Given the description of an element on the screen output the (x, y) to click on. 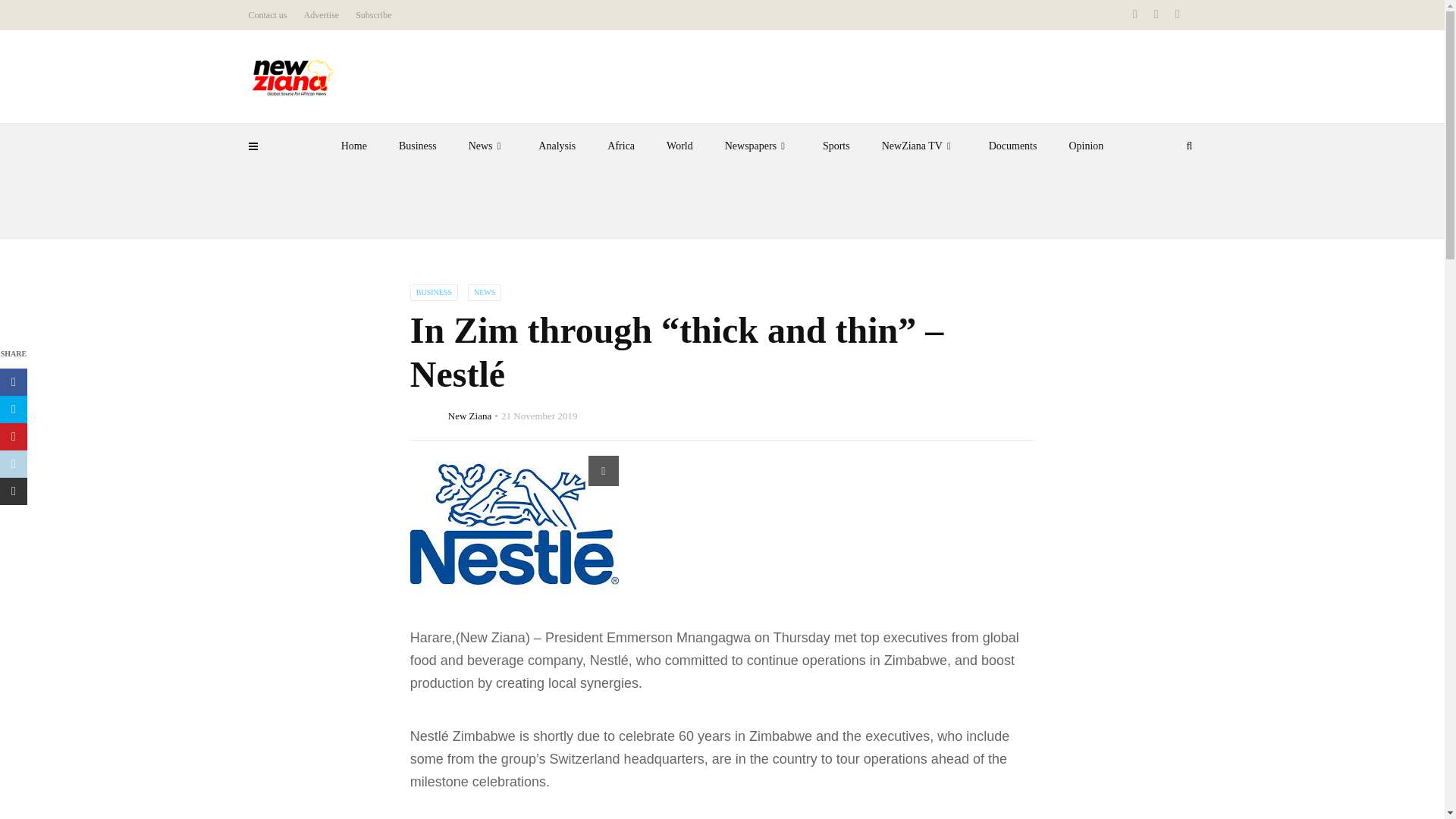
Subscribe (373, 15)
Sports (836, 145)
NewZiana TV (919, 145)
Analysis (556, 145)
Opinion (1085, 145)
Advertisement (721, 202)
Advertise (320, 15)
Newspapers (757, 145)
Contact us (267, 15)
World (679, 145)
Africa (620, 145)
Documents (1012, 145)
Business (417, 145)
BUSINESS (434, 292)
News (487, 145)
